Given the description of an element on the screen output the (x, y) to click on. 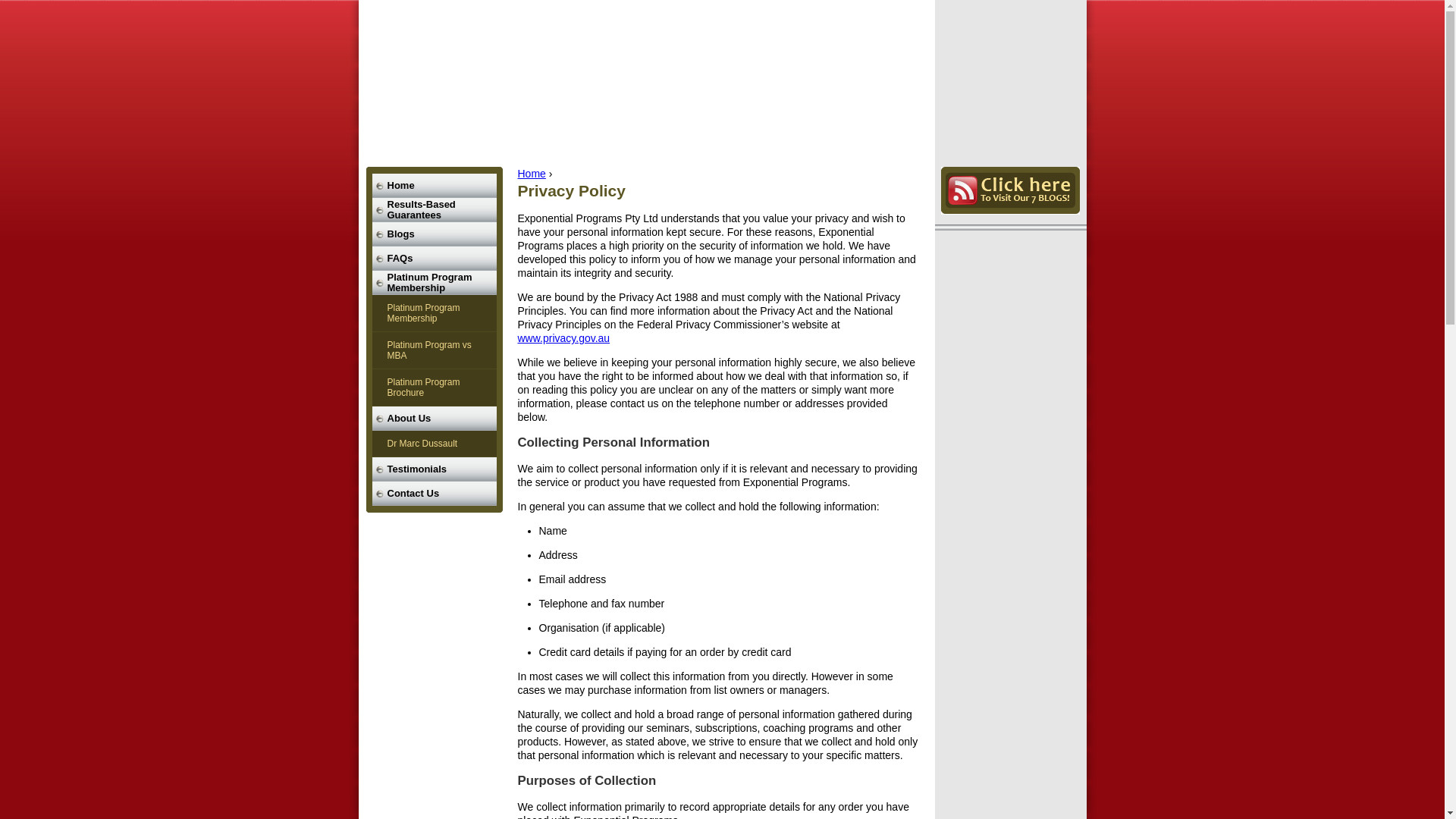
Platinum Program Brochure Element type: text (433, 387)
Home Element type: text (531, 173)
Platinum Program vs MBA Element type: text (433, 350)
Home Element type: text (433, 185)
  Element type: text (721, 75)
Exponential Programs Element type: hover (721, 75)
Dr Marc Dussault Element type: text (433, 443)
Platinum Program Membership Element type: text (433, 313)
Visit Our Blog Element type: text (1009, 190)
Blogs Element type: text (433, 234)
FAQs Element type: text (433, 258)
Results-Based Guarantees Element type: text (433, 209)
Contact Us Element type: text (433, 493)
About Us Element type: text (433, 418)
www.privacy.gov.au Element type: text (563, 338)
Platinum Program Membership Element type: text (433, 282)
Testimonials Element type: text (433, 469)
